Given the description of an element on the screen output the (x, y) to click on. 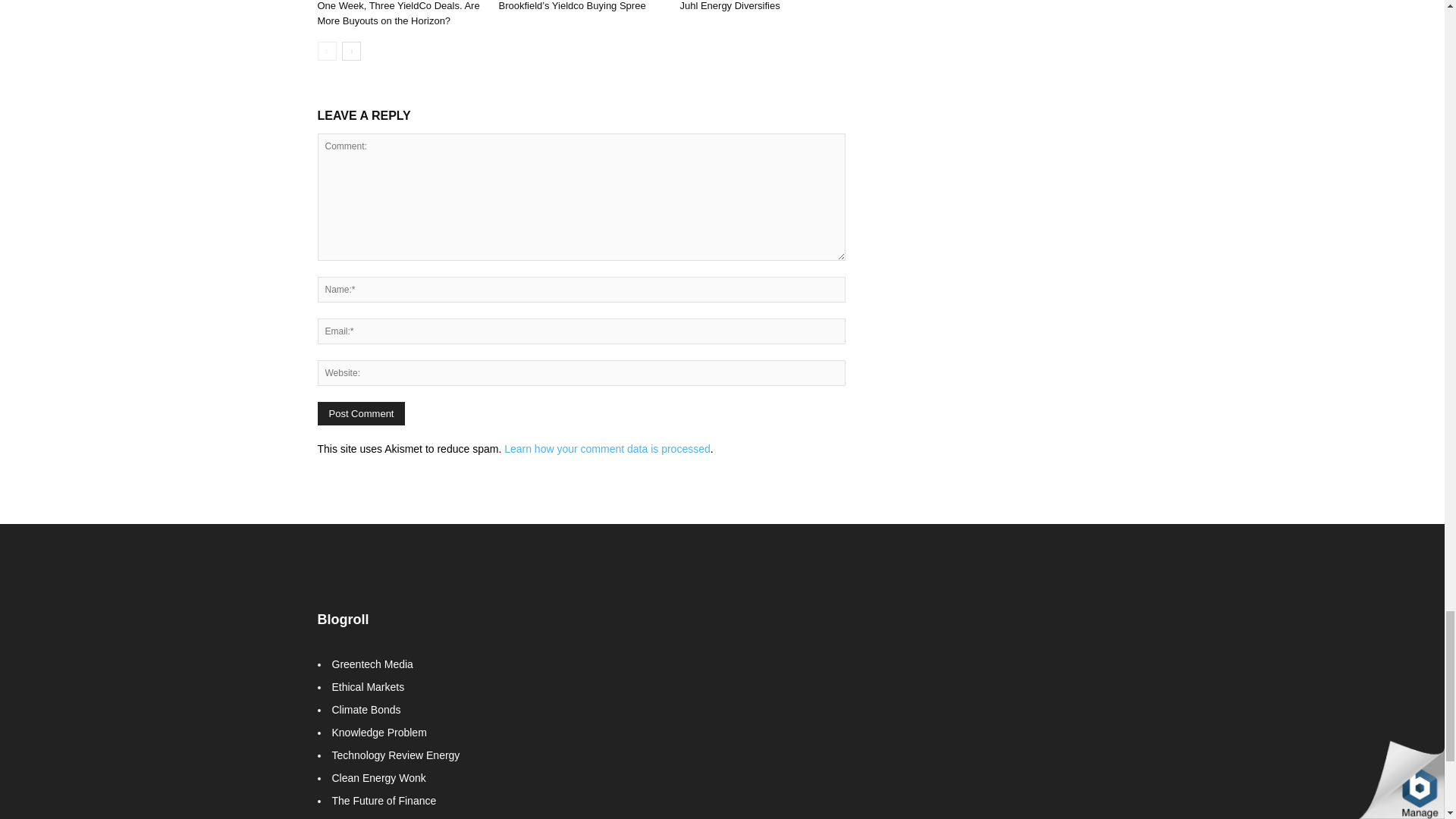
Post Comment (360, 413)
